Given the description of an element on the screen output the (x, y) to click on. 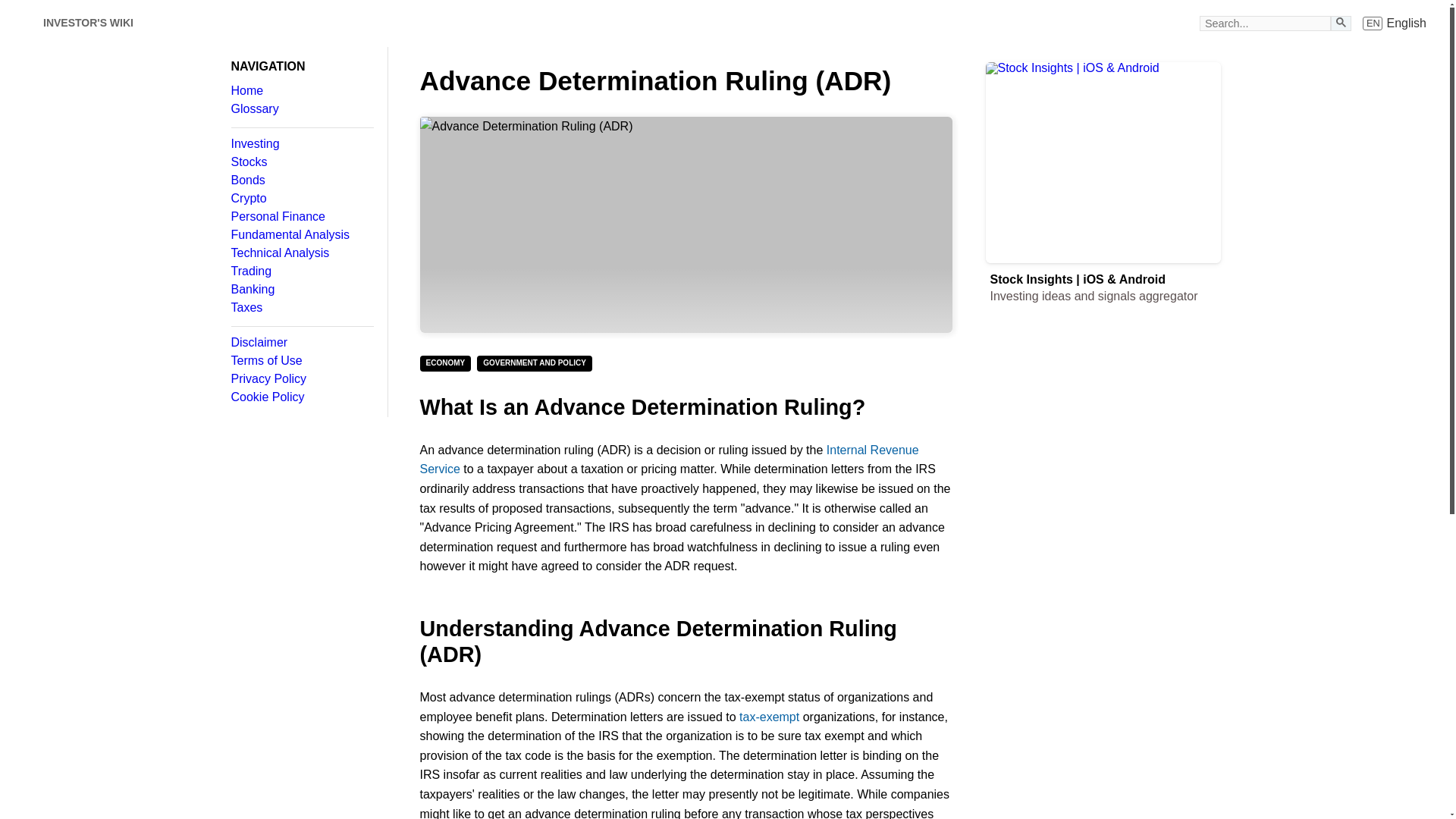
Home (1394, 23)
Banking (301, 91)
Search (301, 289)
INVESTOR'S WIKI (1340, 22)
Technical Analysis (88, 23)
Glossary (301, 253)
Crypto (301, 109)
Disclaimer (301, 198)
Personal Finance (301, 342)
Fundamental Analysis (301, 216)
Bonds (301, 234)
Taxes (301, 180)
Terms of Use (301, 307)
Trading (301, 360)
